Given the description of an element on the screen output the (x, y) to click on. 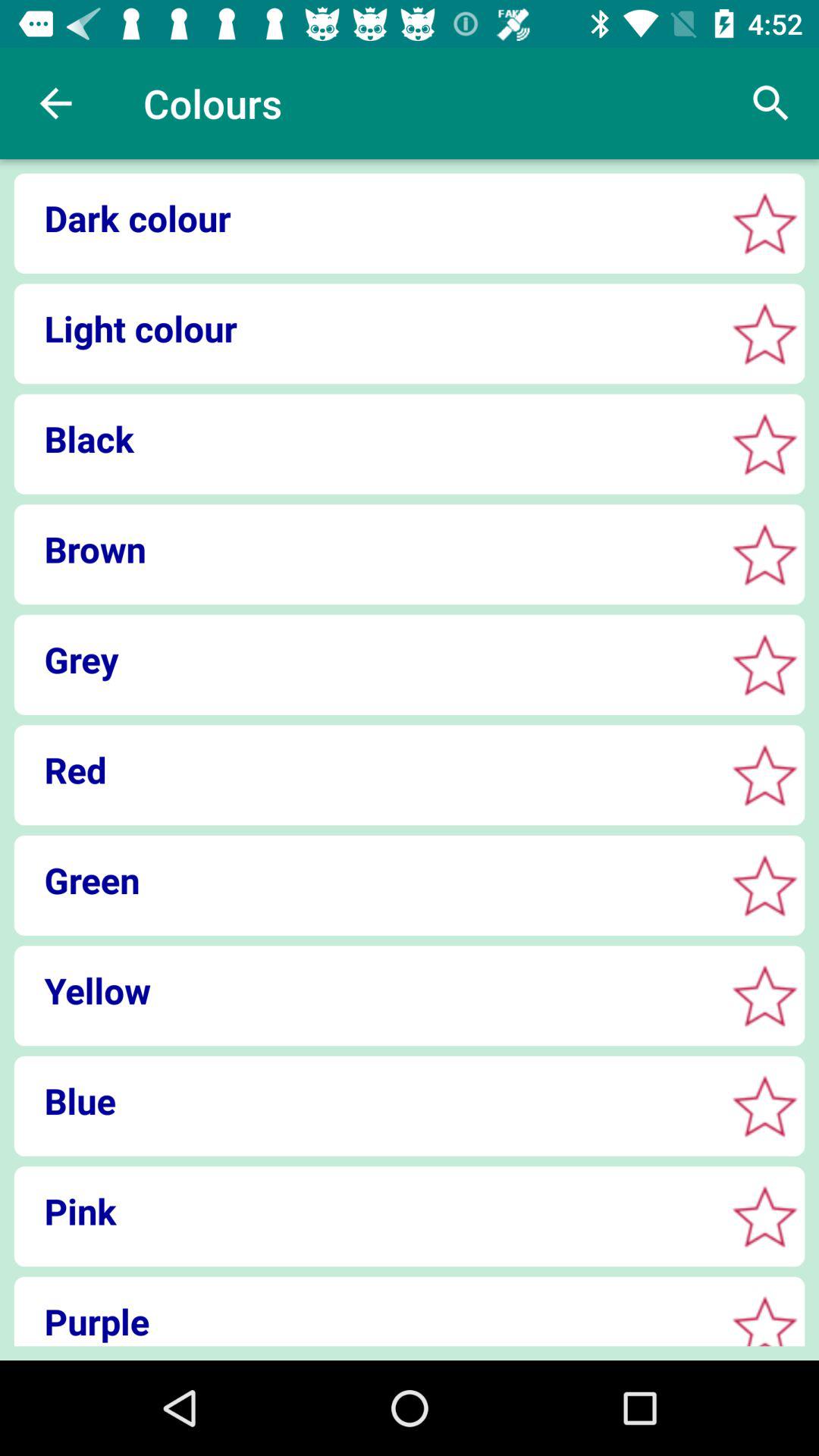
click to favorite (764, 444)
